Given the description of an element on the screen output the (x, y) to click on. 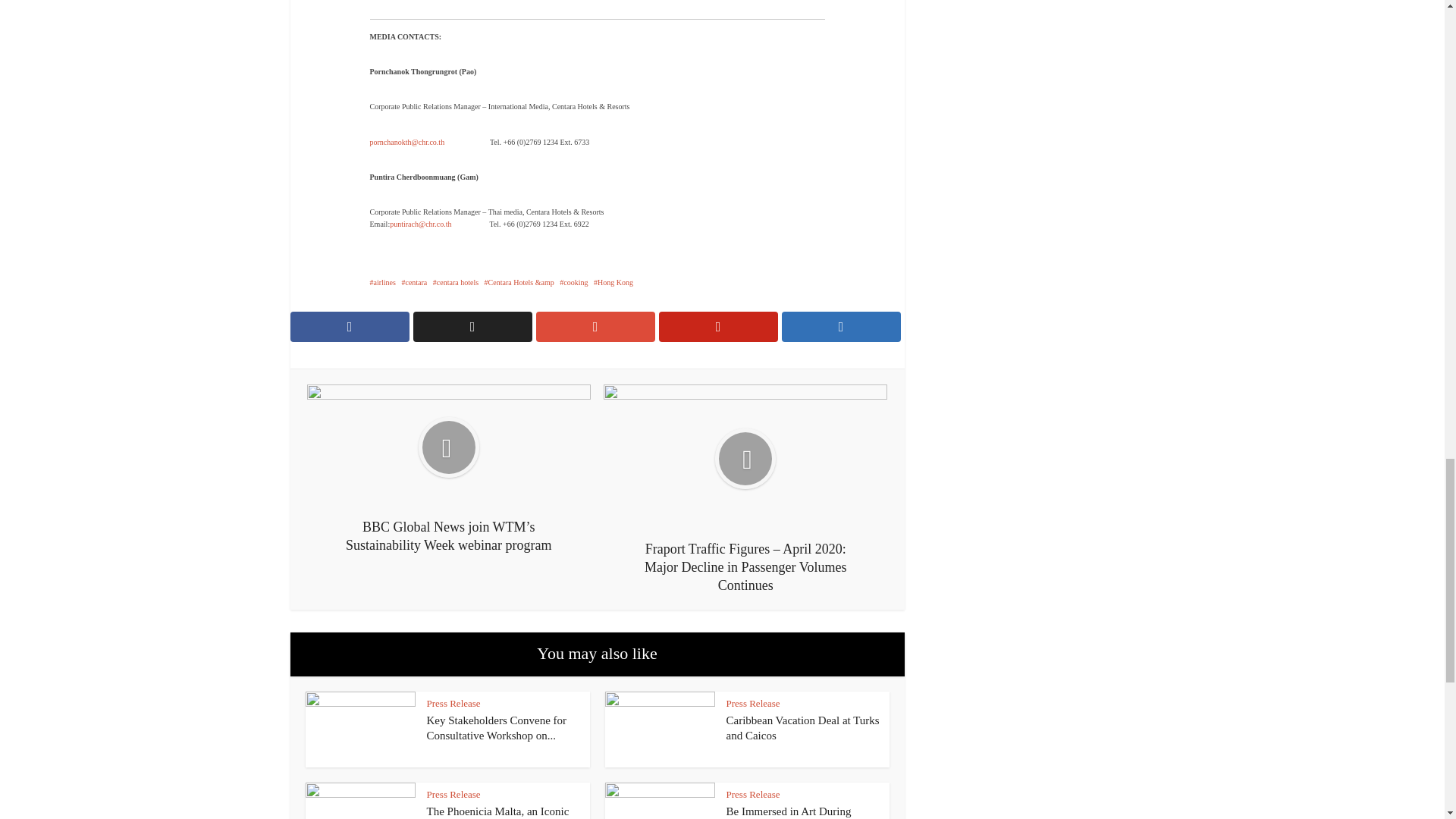
Caribbean Vacation Deal at Turks and Caicos (802, 728)
Be Immersed in Art During Antigua and Barbuda Art Week 2024 (801, 812)
Hong Kong (613, 282)
centara (413, 282)
cooking (573, 282)
airlines (382, 282)
centara hotels (455, 282)
